Given the description of an element on the screen output the (x, y) to click on. 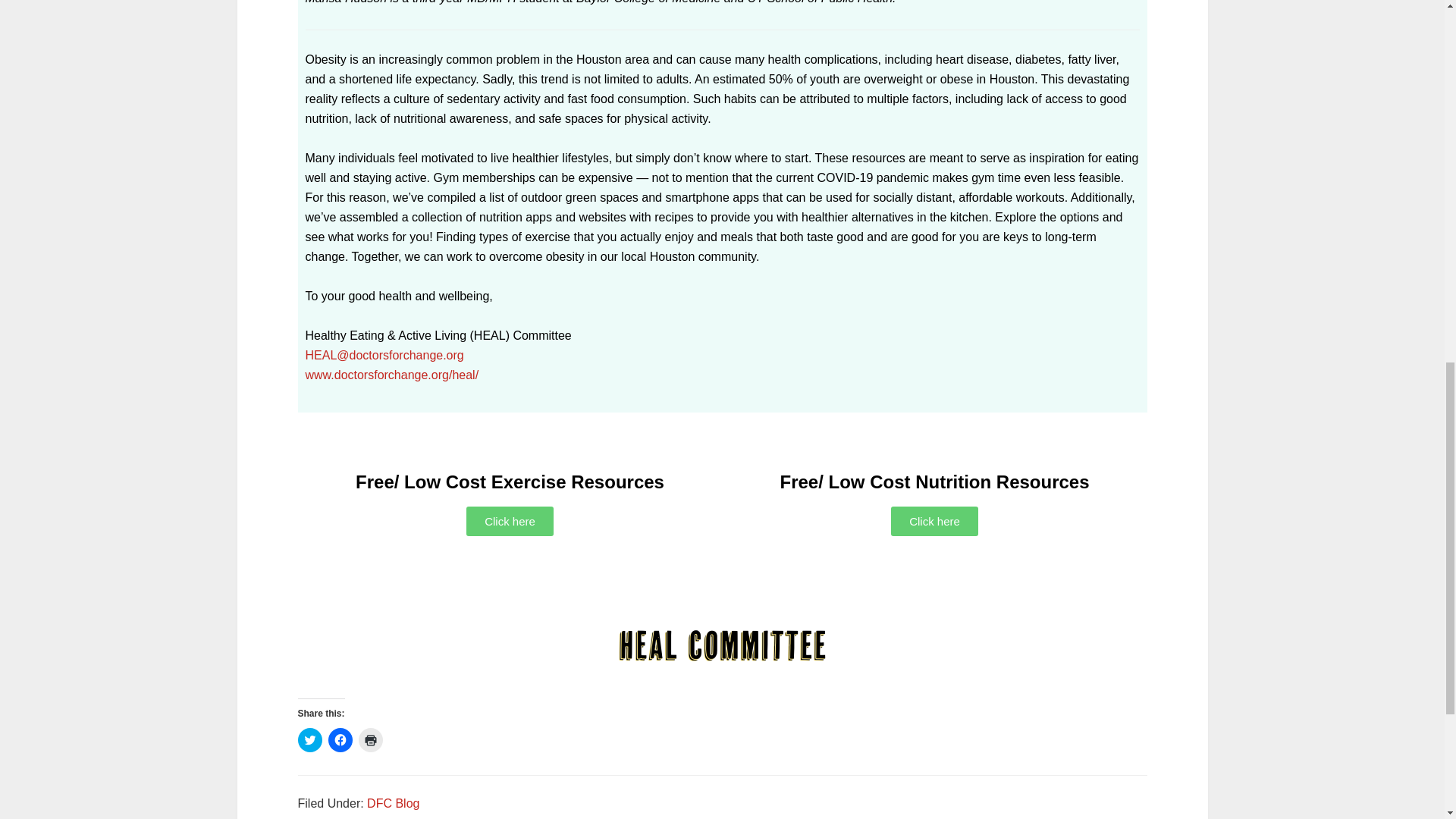
Click here (509, 521)
Click here (934, 521)
Click to print (369, 740)
Click to share on Twitter (309, 740)
Click to share on Facebook (339, 740)
